Given the description of an element on the screen output the (x, y) to click on. 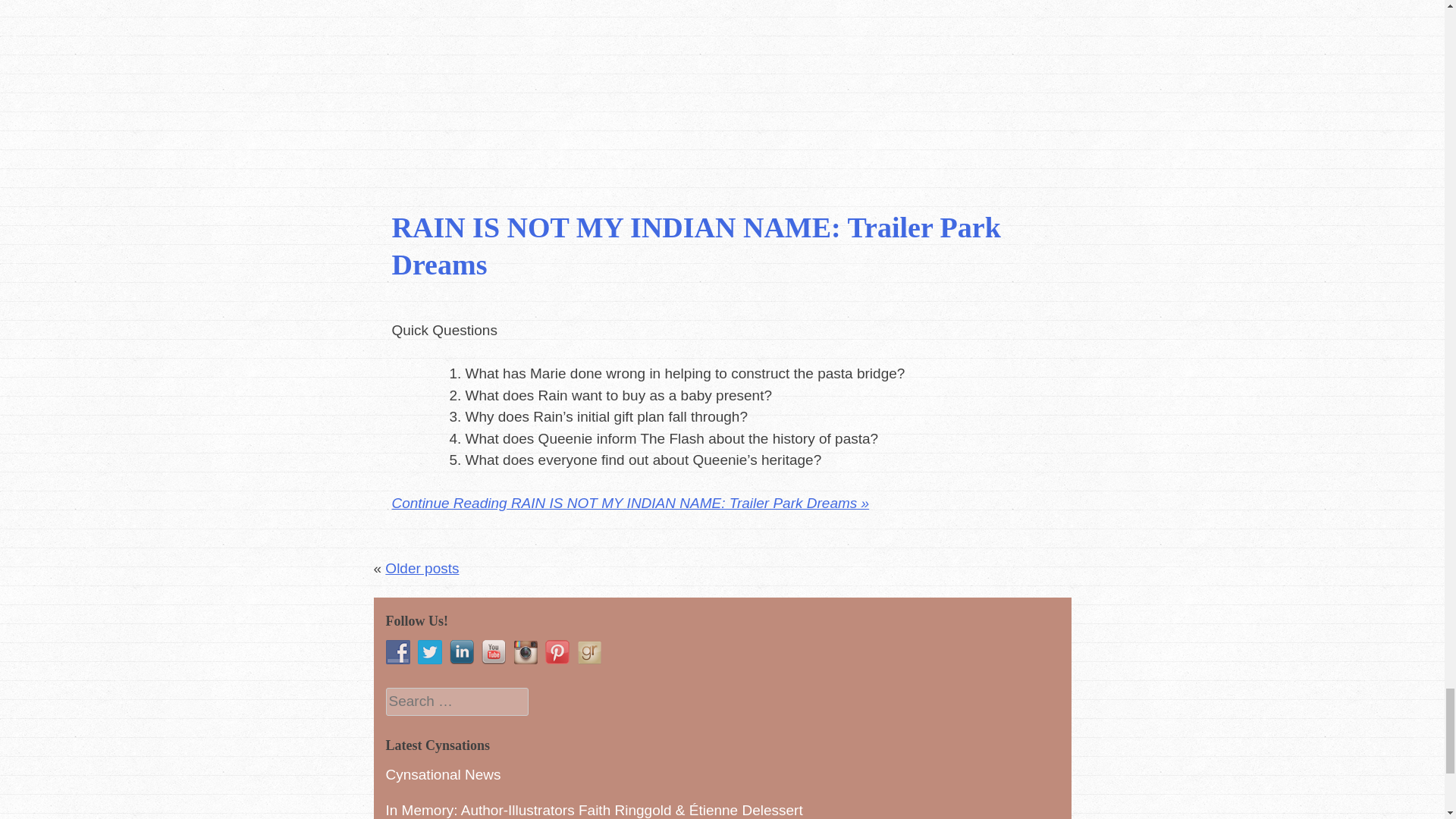
Follow Us on LinkedIn (460, 651)
RAIN IS NOT MY INDIAN NAME: Trailer Park Dreams (695, 245)
Follow Us on YouTube (492, 651)
Follow Us on Twitter (428, 651)
Follow Us on Pinterest (556, 651)
Follow Us on Instagram (524, 651)
Older posts (421, 568)
Follow Us on Goodreads (587, 651)
Follow Us on Facebook (397, 651)
